Given the description of an element on the screen output the (x, y) to click on. 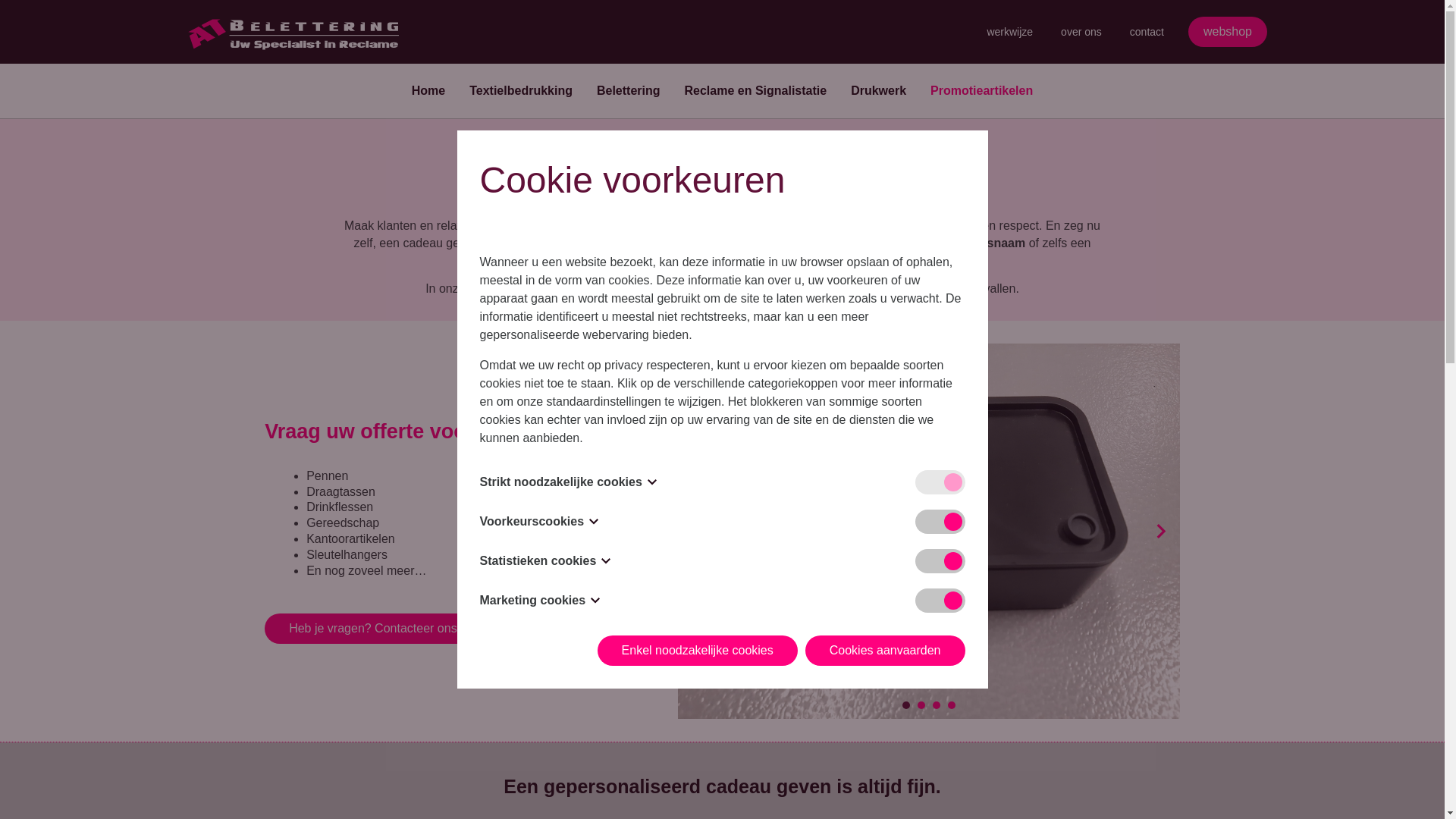
Textielbedrukking Element type: text (520, 90)
Promotieartikelen Element type: text (981, 90)
contact Element type: text (1146, 32)
Reclame en Signalistatie Element type: text (755, 90)
over ons Element type: text (1081, 32)
Drukwerk Element type: text (878, 90)
AT_Belettering_Relatiegeschenken_DistractGroup_Aarschot Element type: hover (426, 353)
Home Element type: text (428, 90)
Belettering Element type: text (628, 90)
Brooddoos-relatiegeschenk Element type: hover (928, 531)
Heb je vragen? Contacteer ons Element type: text (372, 628)
webshop Element type: text (1227, 31)
werkwijze Element type: text (1009, 32)
